Given the description of an element on the screen output the (x, y) to click on. 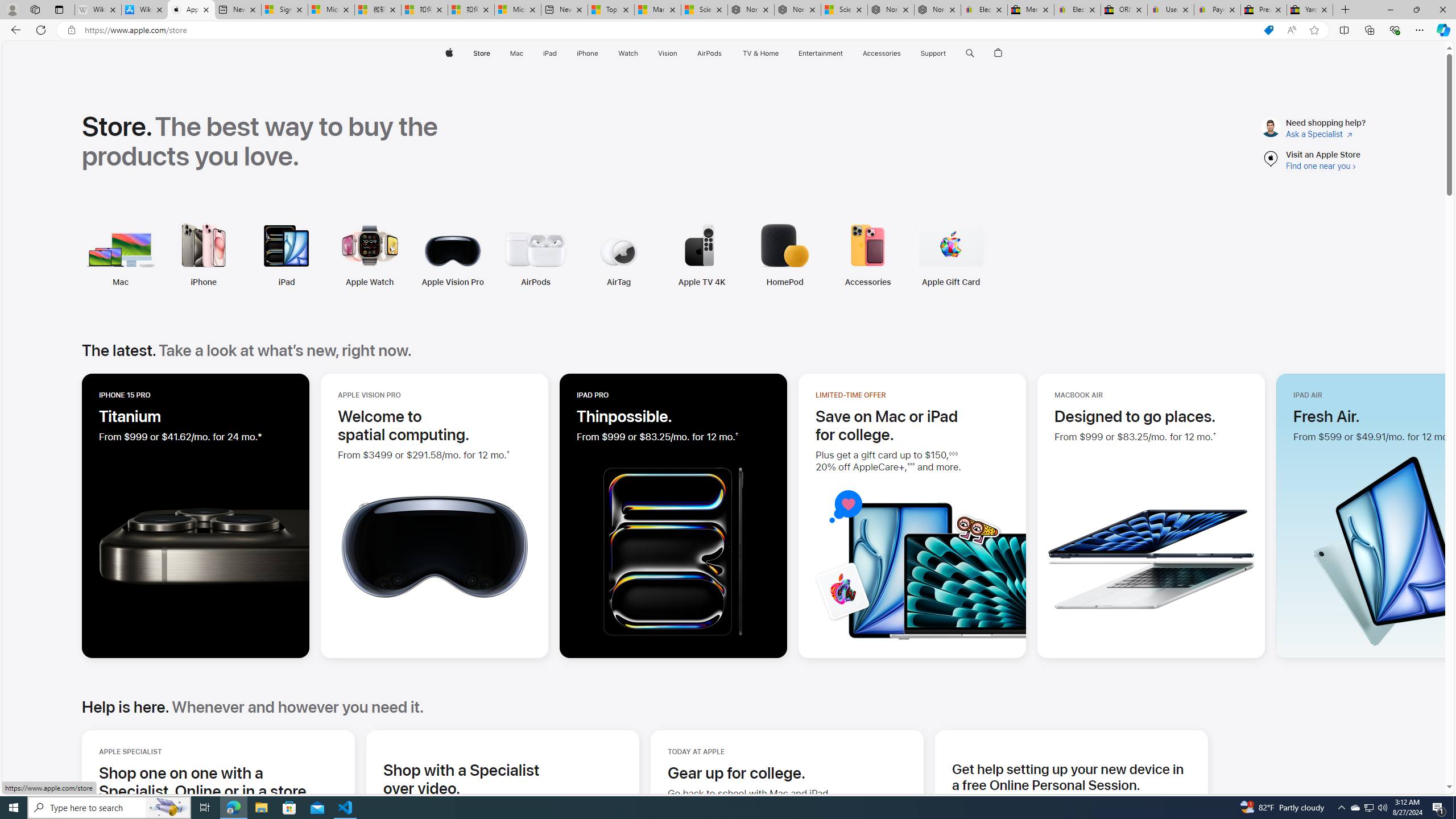
Marine life - MSN (656, 9)
Watch menu (640, 53)
Apple (448, 53)
Next - The latest. (1419, 514)
Yard, Garden & Outdoor Living (1309, 9)
Payments Terms of Use | eBay.com (1216, 9)
iPad menu (557, 53)
Apple TV 4K (624, 254)
